Given the description of an element on the screen output the (x, y) to click on. 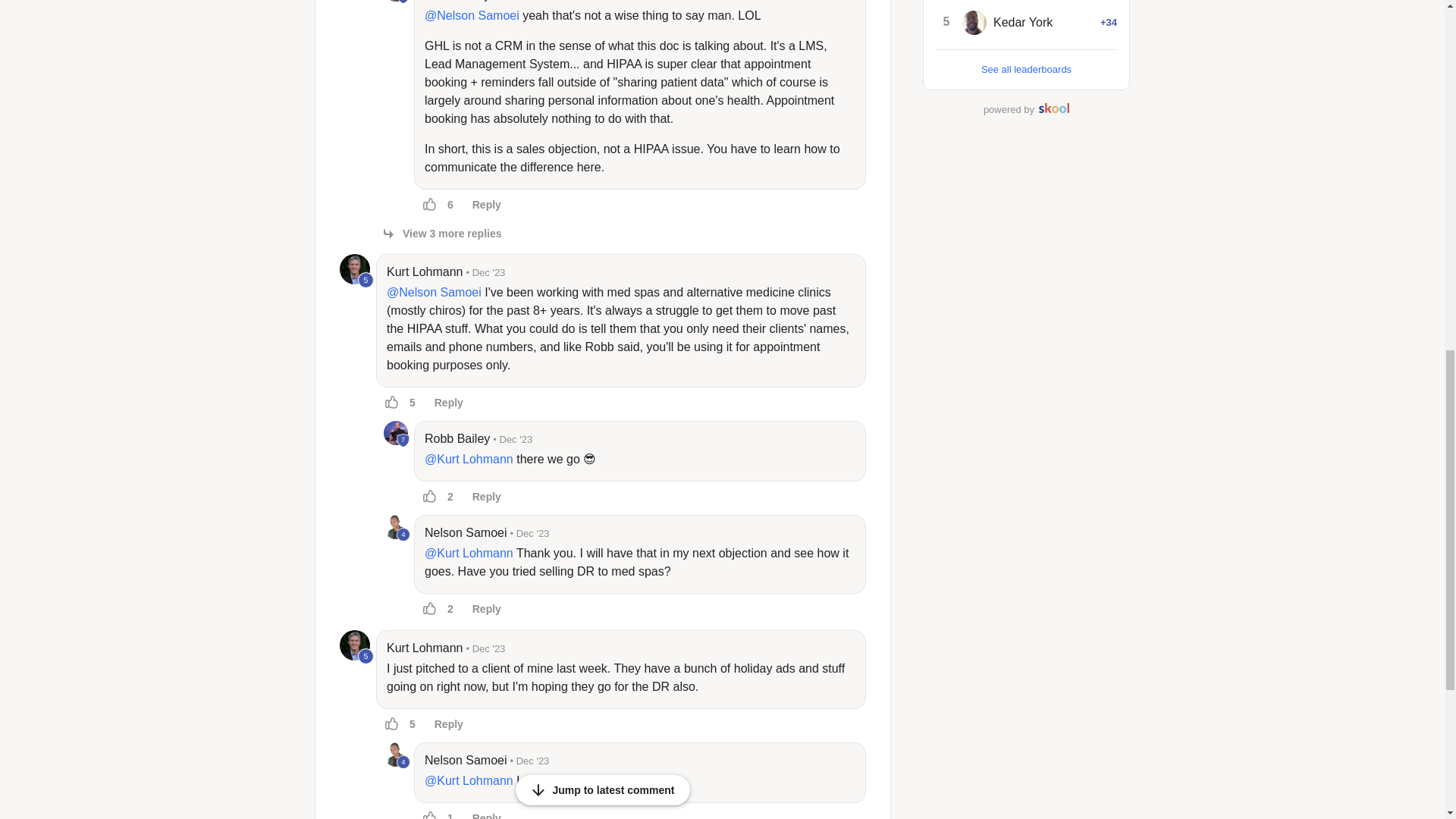
4 (403, 534)
Kurt Lohmann (354, 644)
Kurt Lohmann (425, 271)
5 (354, 268)
5 (366, 279)
7 (395, 0)
Robb Bailey (395, 432)
Robb Bailey (395, 0)
Nelson Samoei (395, 754)
Kurt Lohmann (354, 268)
5 (366, 656)
7 (403, 440)
Robb Bailey (457, 2)
Nelson Samoei (395, 526)
7 (395, 432)
